Given the description of an element on the screen output the (x, y) to click on. 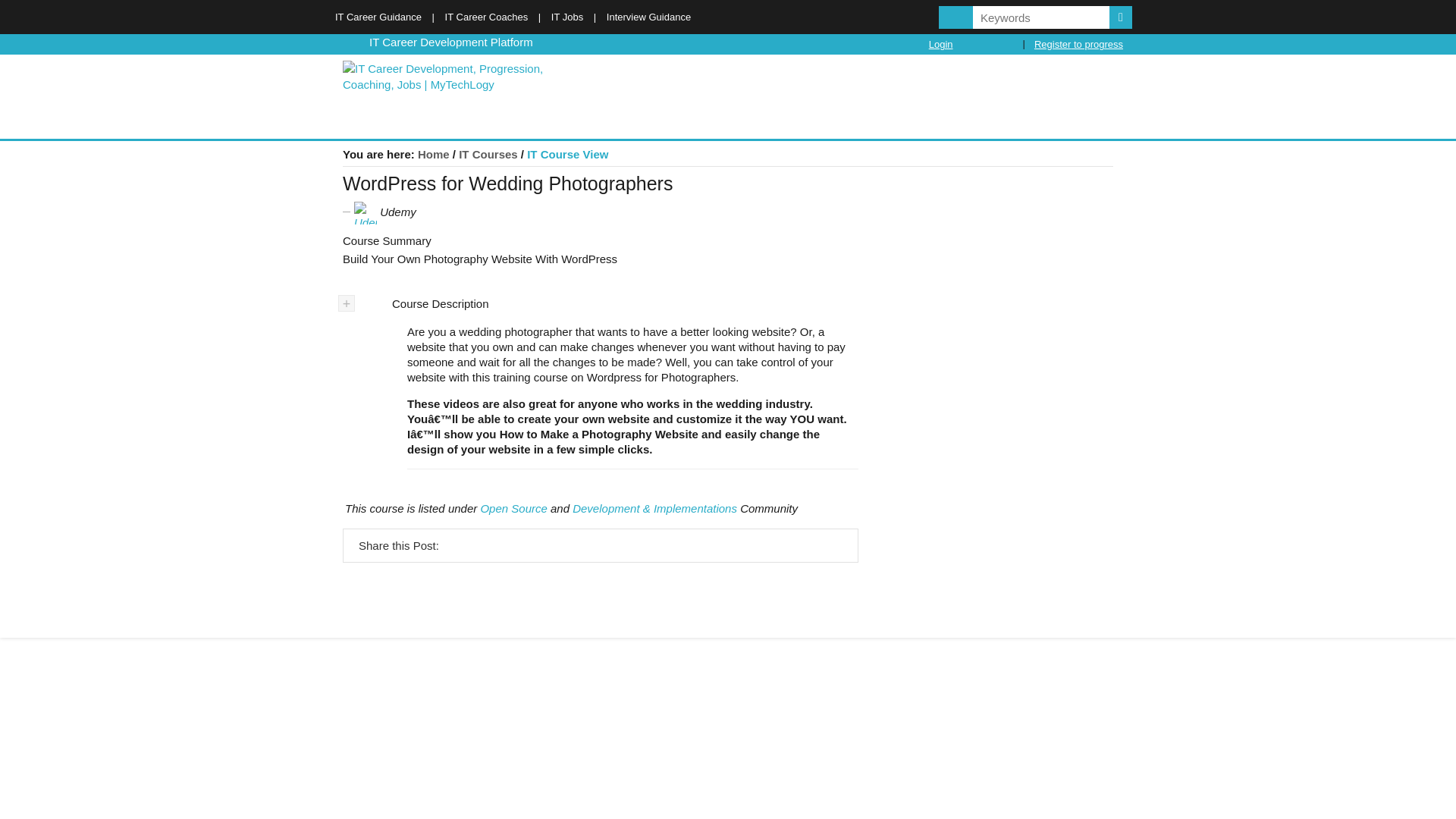
Interview Guidance (648, 16)
IT Jobs (567, 16)
Login (940, 43)
IT Career Guidance (378, 16)
Open Source (513, 508)
IT Career Coaches (486, 16)
Register to progress (1077, 43)
Home (433, 154)
China (353, 41)
IT Courses (488, 154)
